Given the description of an element on the screen output the (x, y) to click on. 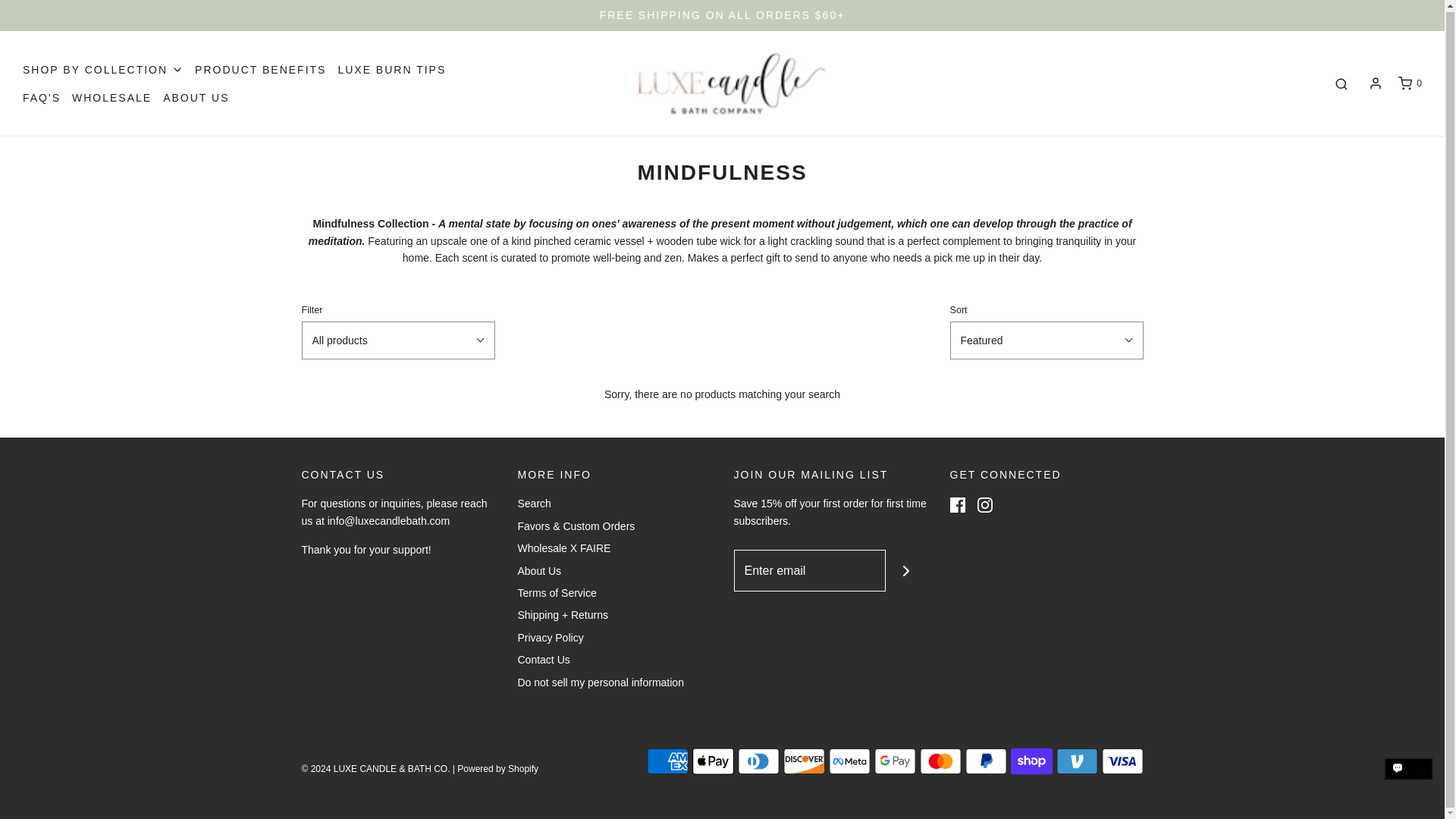
SHOP BY COLLECTION (103, 69)
Search (533, 505)
Discover (803, 761)
WHOLESALE (111, 97)
FAQ'S (42, 97)
Shop Pay (1030, 761)
PRODUCT BENEFITS (260, 69)
Diners Club (757, 761)
All products (398, 340)
0 (1409, 83)
